Given the description of an element on the screen output the (x, y) to click on. 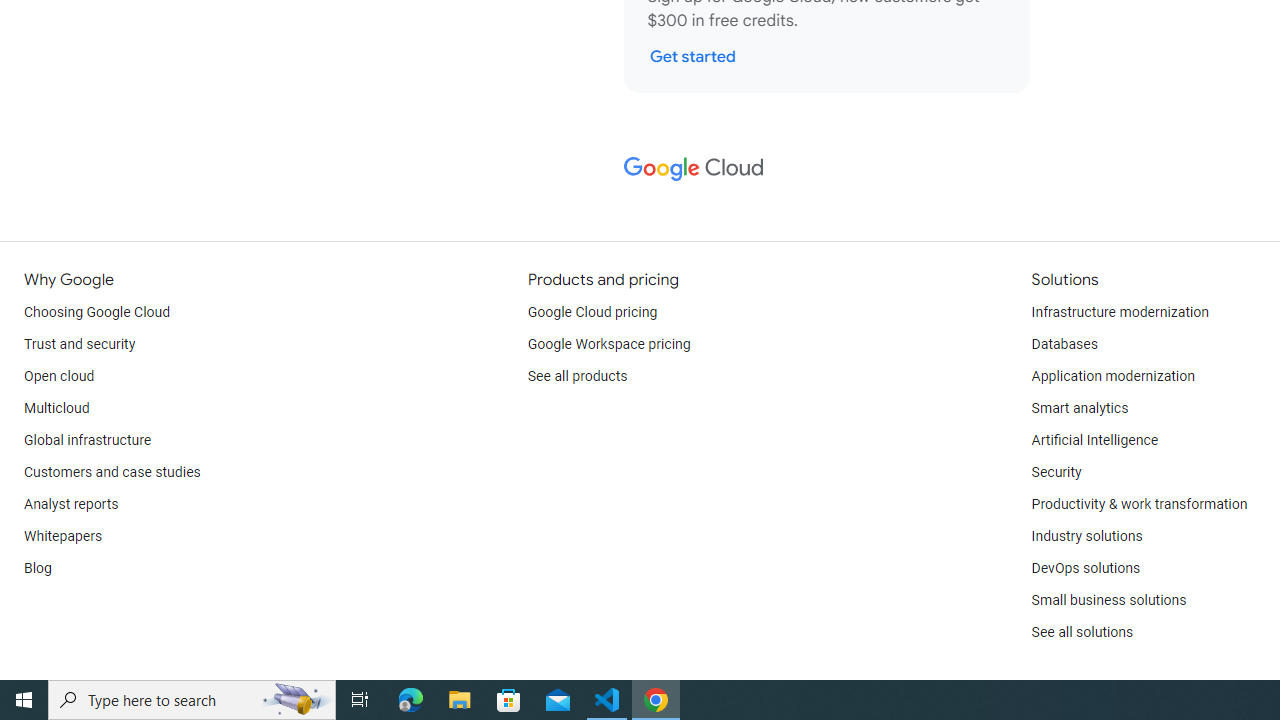
See all solutions (1082, 632)
Industry solutions (1086, 536)
Application modernization (1112, 376)
Global infrastructure (88, 440)
Google Workspace pricing (609, 344)
Artificial Intelligence (1094, 440)
Smart analytics (1079, 408)
DevOps solutions (1085, 568)
Get started (692, 56)
Google Cloud pricing (592, 312)
